Given the description of an element on the screen output the (x, y) to click on. 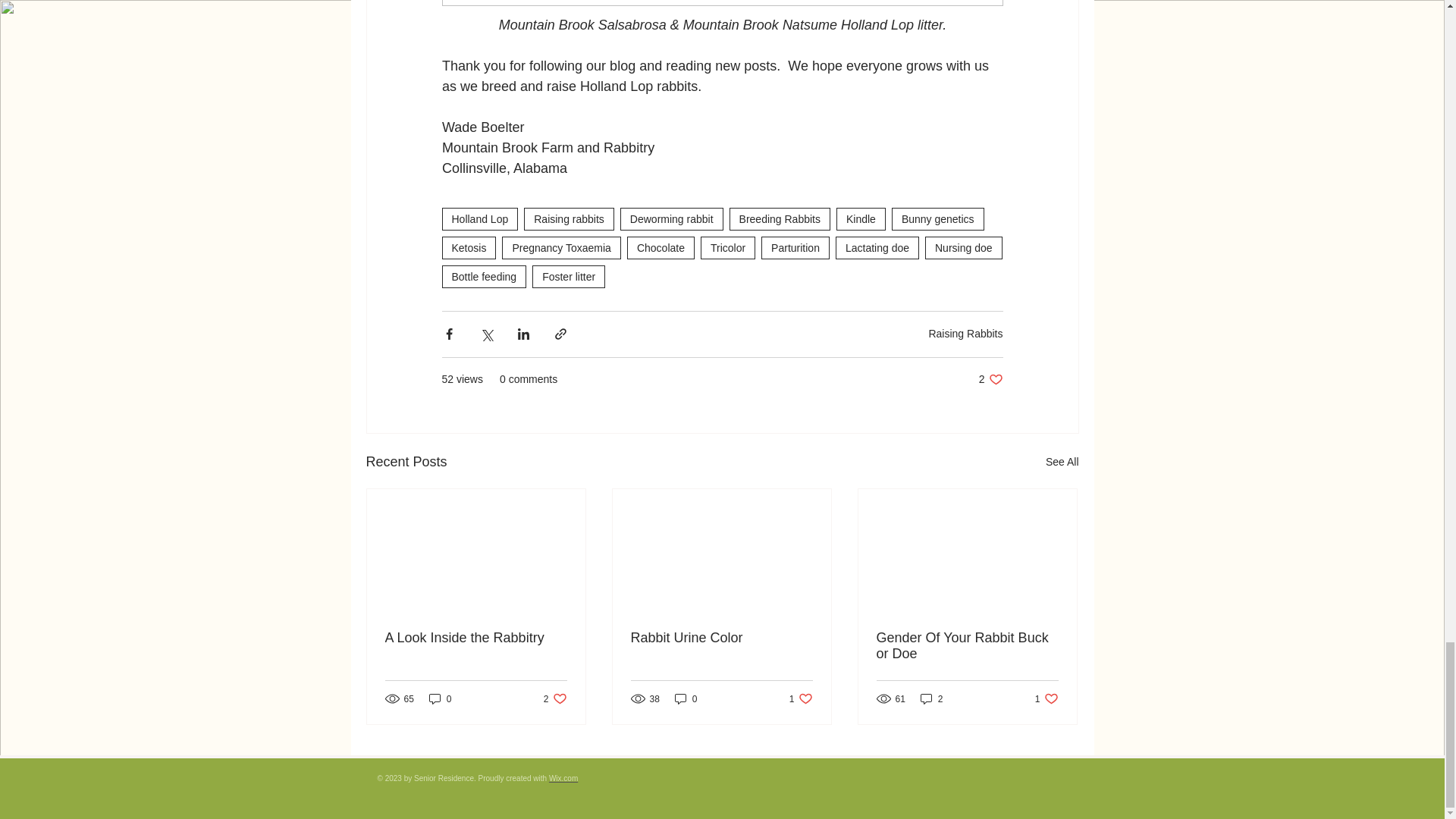
Breeding Rabbits (779, 219)
Kindle (860, 219)
Pregnancy Toxaemia (561, 247)
Ketosis (468, 247)
Raising rabbits (569, 219)
Chocolate (660, 247)
Deworming rabbit (671, 219)
Bunny genetics (937, 219)
Holland Lop (479, 219)
